Given the description of an element on the screen output the (x, y) to click on. 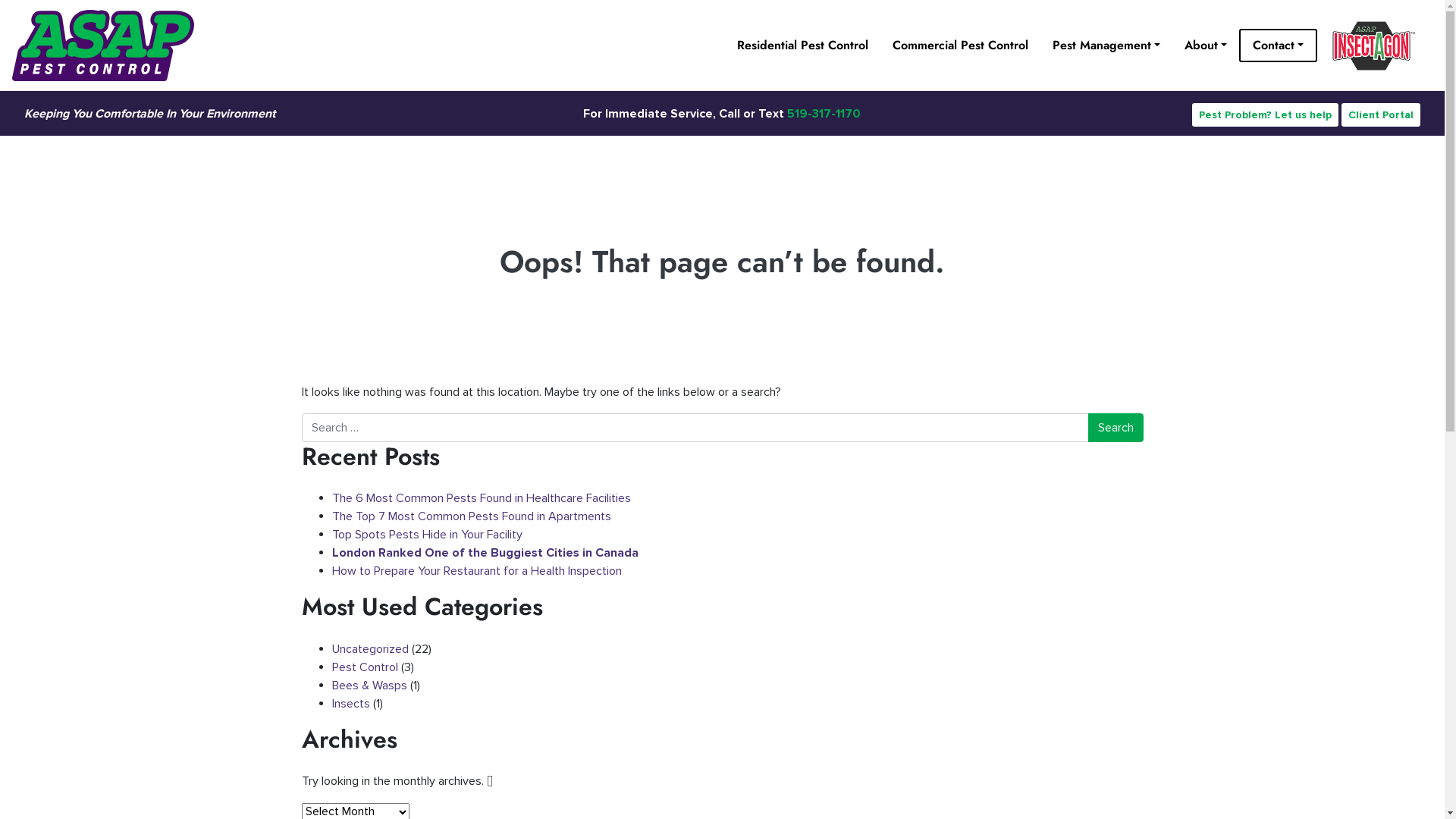
Insectagon Element type: text (1374, 45)
519-317-1170 Element type: text (823, 113)
Top Spots Pests Hide in Your Facility Element type: text (427, 534)
Commercial Pest Control Element type: text (960, 45)
London Ranked One of the Buggiest Cities in Canada   Element type: text (488, 552)
The Top 7 Most Common Pests Found in Apartments Element type: text (471, 516)
Skip to content Element type: text (1443, 0)
Contact Element type: text (1277, 45)
Pest Control Element type: text (365, 666)
Residential Pest Control Element type: text (802, 45)
The 6 Most Common Pests Found in Healthcare Facilities Element type: text (481, 497)
Bees & Wasps Element type: text (369, 685)
How to Prepare Your Restaurant for a Health Inspection Element type: text (476, 570)
Uncategorized Element type: text (370, 648)
About Element type: text (1205, 45)
Search Element type: text (1114, 427)
Pest Management Element type: text (1106, 45)
Insects Element type: text (351, 703)
Pest Problem? Let us help Element type: text (1265, 114)
Client Portal Element type: text (1380, 114)
ASAP Pest Control, Inc Element type: hover (125, 45)
